Given the description of an element on the screen output the (x, y) to click on. 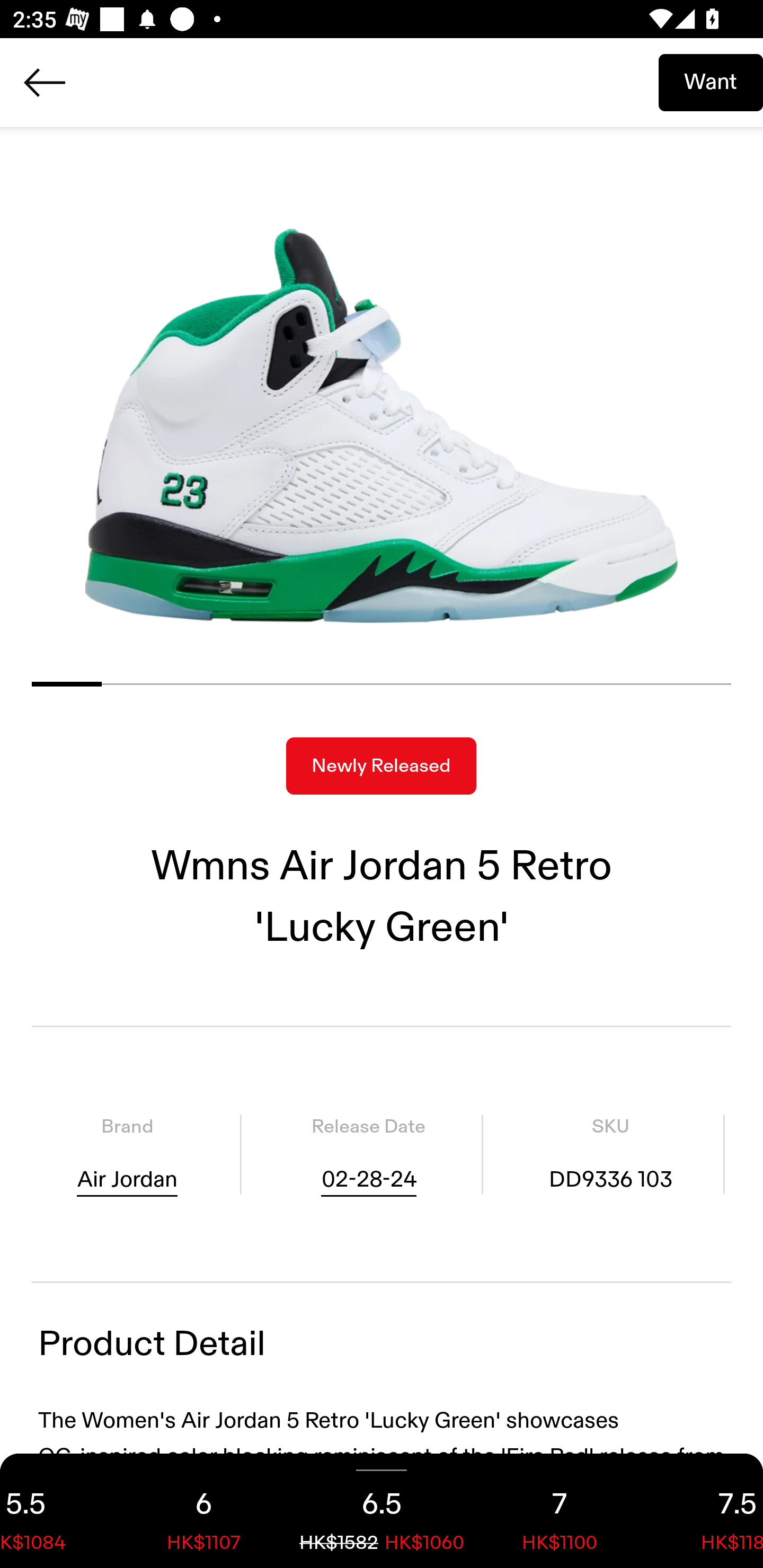
Want (710, 82)
Newly Released (381, 765)
Brand Air Jordan (126, 1153)
Release Date 02-28-24 (368, 1153)
SKU DD9336 103 (609, 1153)
5.5 HK$1084 (57, 1510)
6 HK$1107 (203, 1510)
6.5 HK$1582 HK$1060 (381, 1510)
7 HK$1100 (559, 1510)
7.5 HK$1187 (705, 1510)
